Given the description of an element on the screen output the (x, y) to click on. 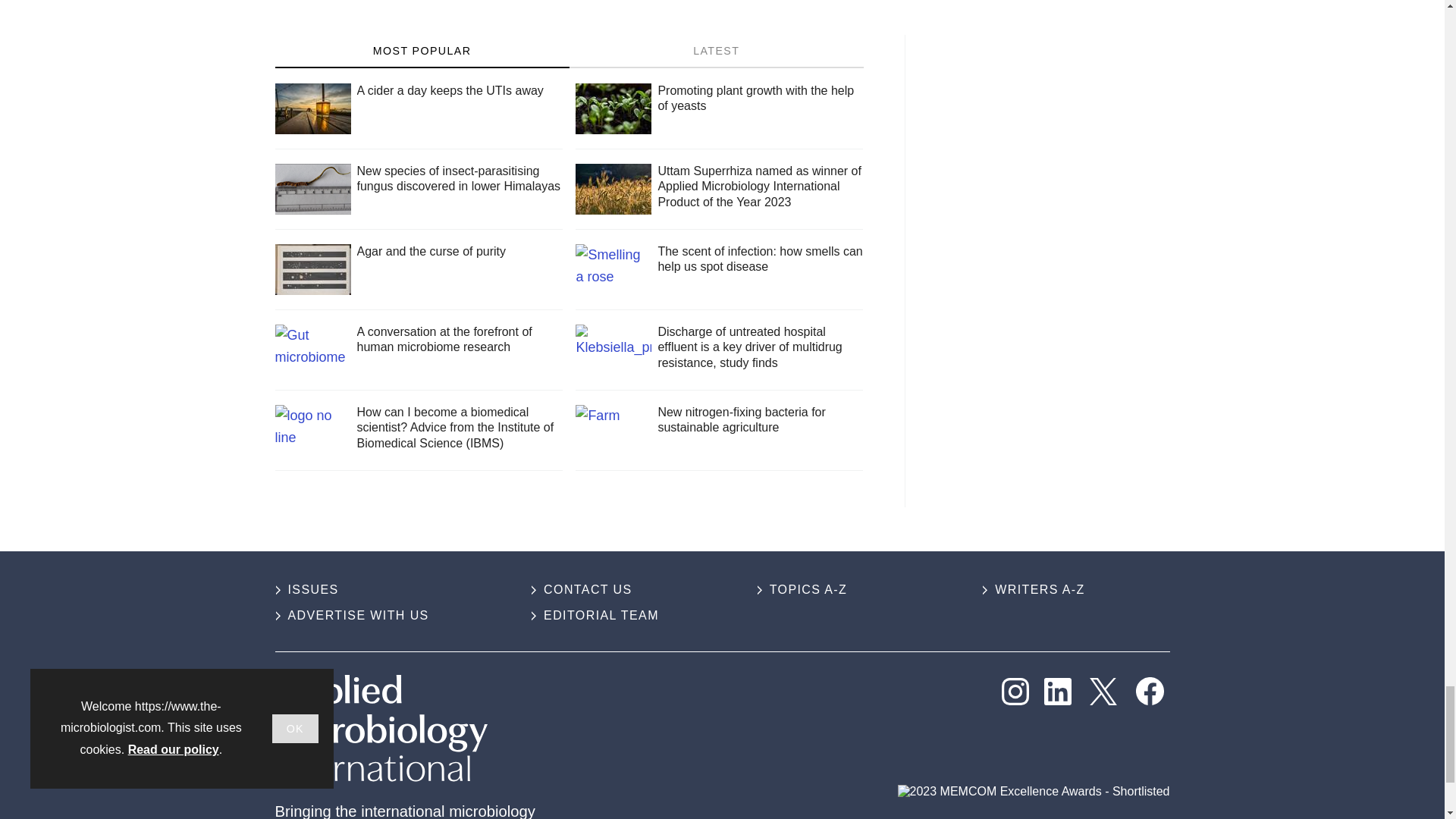
Connect with us on Facebook (1149, 691)
Connect with us on Twitter (1102, 691)
Connect with us on Linked in (1057, 691)
Connect with us on Instagram (1015, 691)
